Given the description of an element on the screen output the (x, y) to click on. 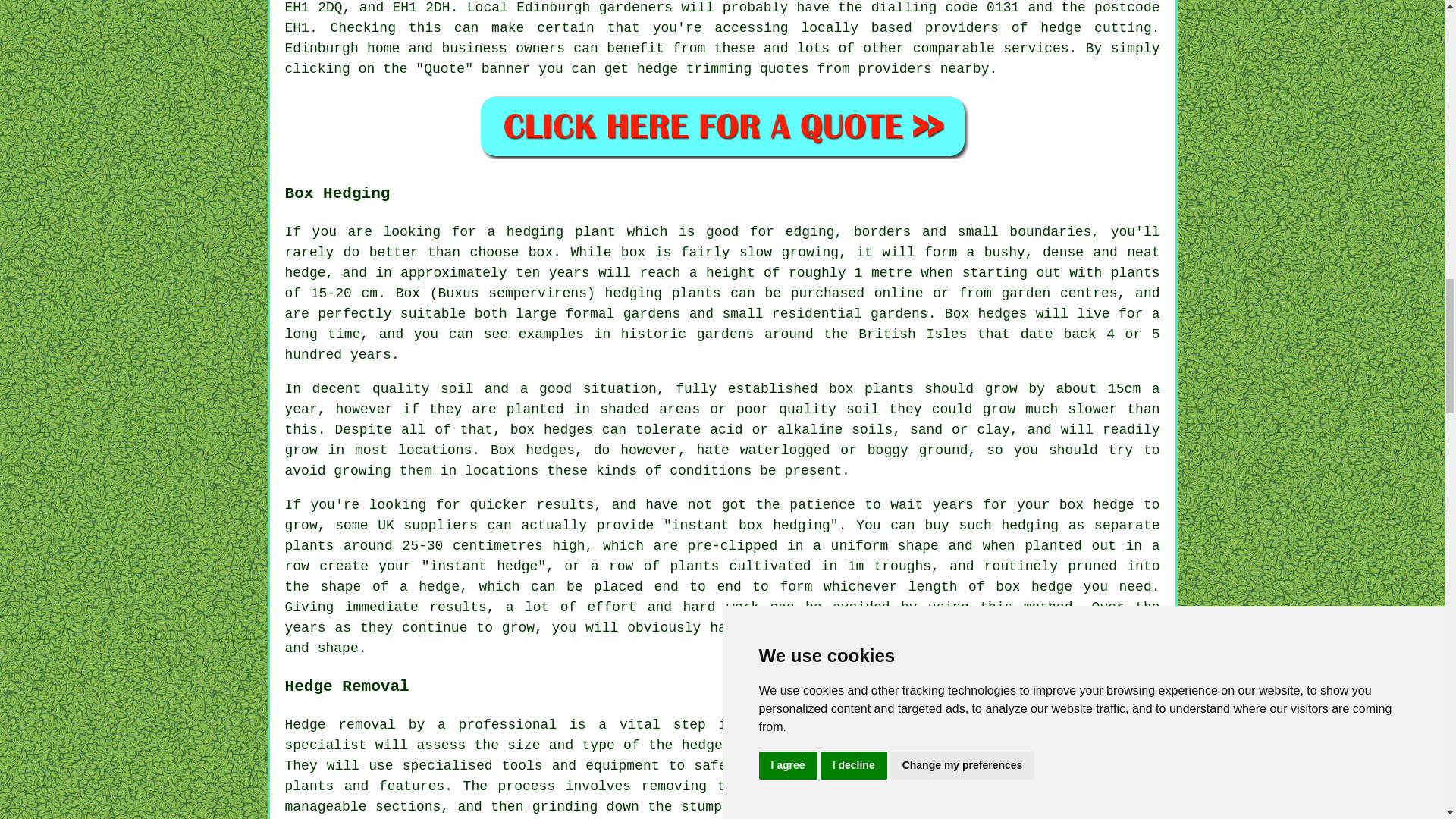
gardeners (635, 7)
services (1035, 48)
